Given the description of an element on the screen output the (x, y) to click on. 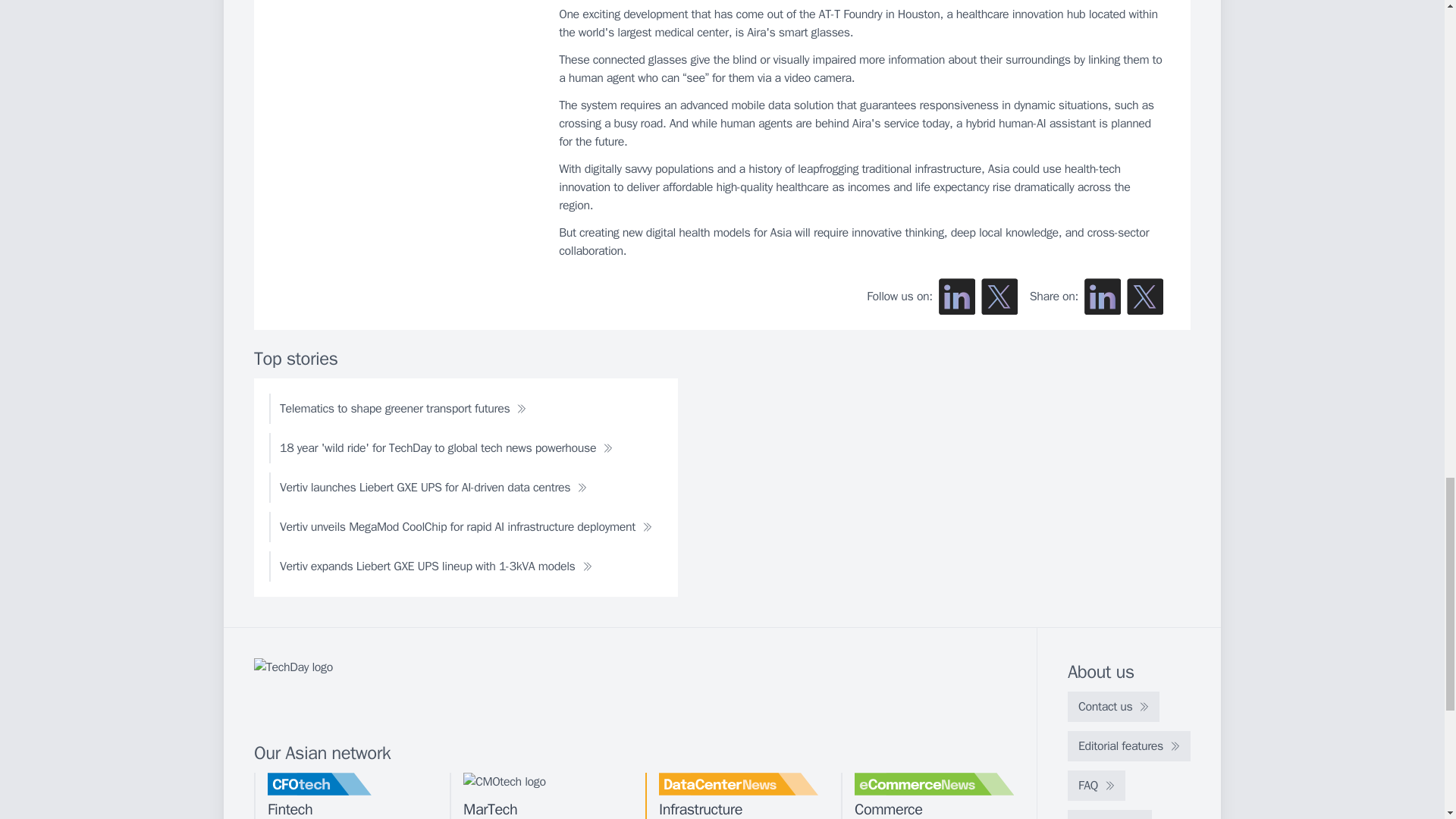
Vertiv expands Liebert GXE UPS lineup with 1-3kVA models (435, 566)
Telematics to shape greener transport futures (403, 408)
Vertiv launches Liebert GXE UPS for AI-driven data centres (432, 487)
